Given the description of an element on the screen output the (x, y) to click on. 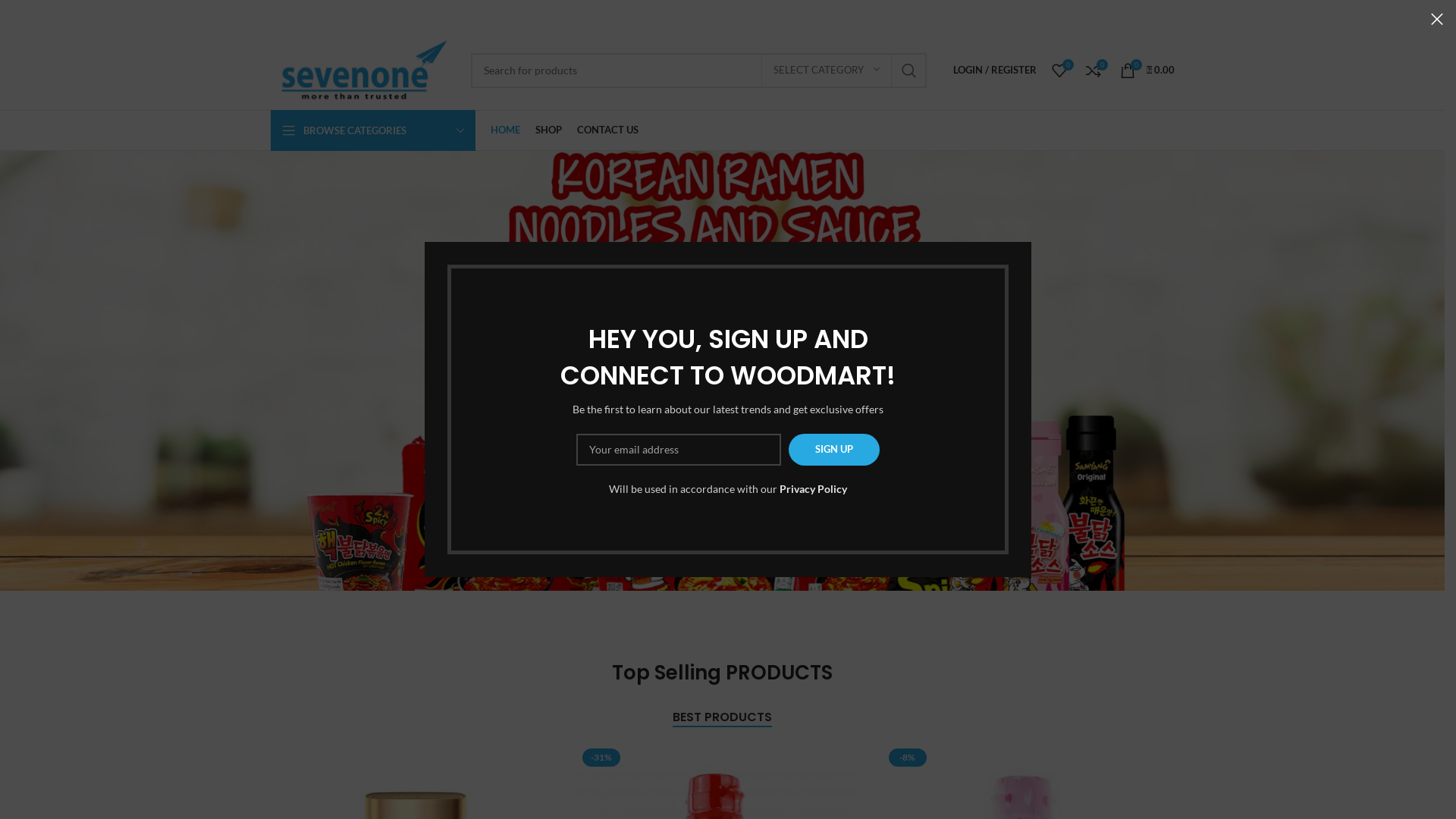
BEST PRODUCTS Element type: text (721, 716)
CONTACT US Element type: text (606, 130)
Search for products Element type: hover (697, 70)
0 Element type: text (1058, 69)
Privacy Policy Element type: text (813, 488)
0 Element type: text (1093, 69)
HOME Element type: text (504, 130)
LOGIN / REGISTER Element type: text (993, 69)
SHOP Element type: text (548, 130)
SEARCH Element type: text (908, 70)
SELECT CATEGORY Element type: text (826, 70)
Sign up Element type: text (833, 449)
